Given the description of an element on the screen output the (x, y) to click on. 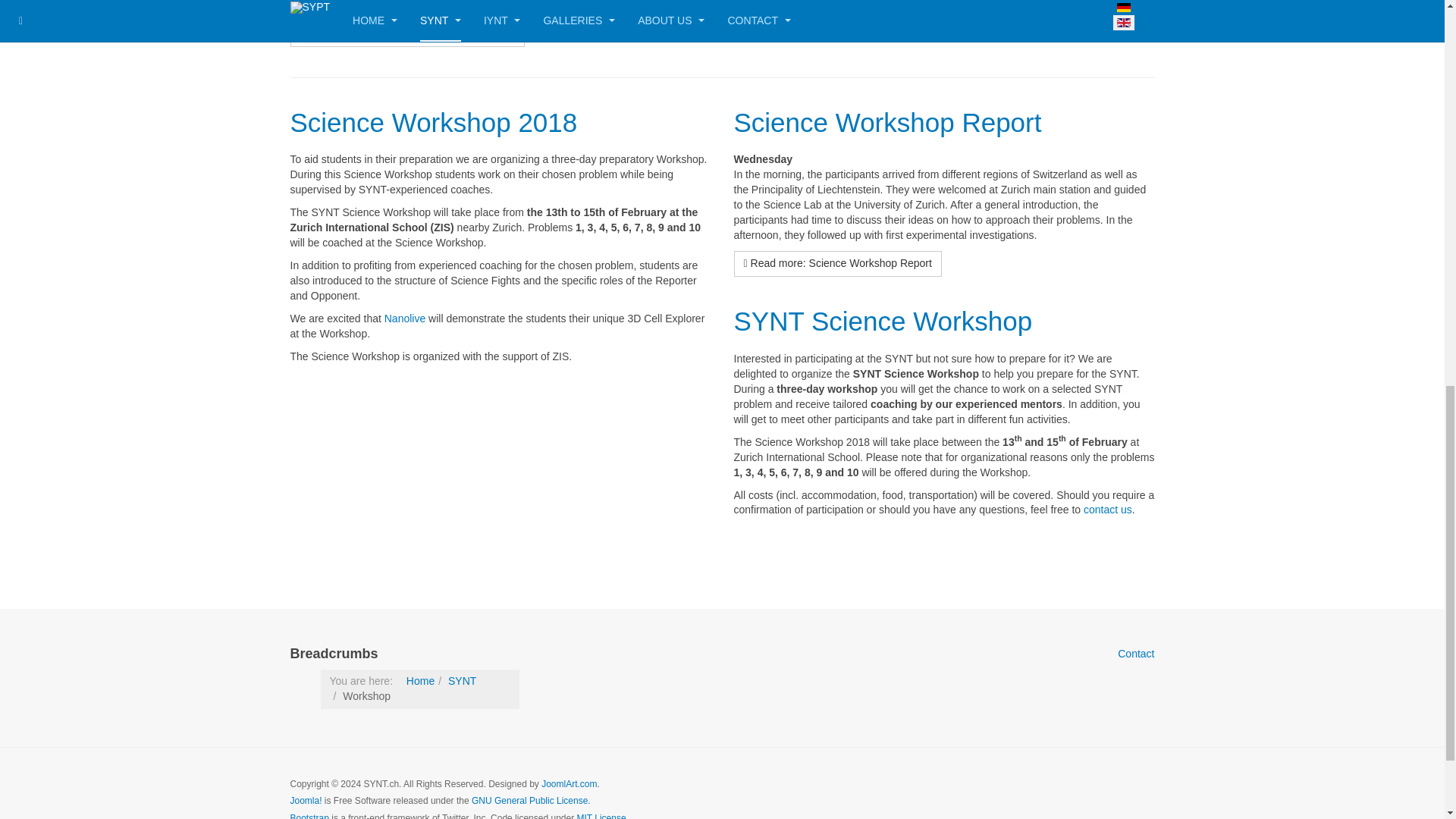
Science Workshop 2018 (432, 122)
Visit Joomlart.com! (568, 783)
Bootstrap by Twitter (309, 816)
MIT License (601, 816)
Science Workshop Report (887, 122)
SYNT Science Workshop (882, 320)
